Given the description of an element on the screen output the (x, y) to click on. 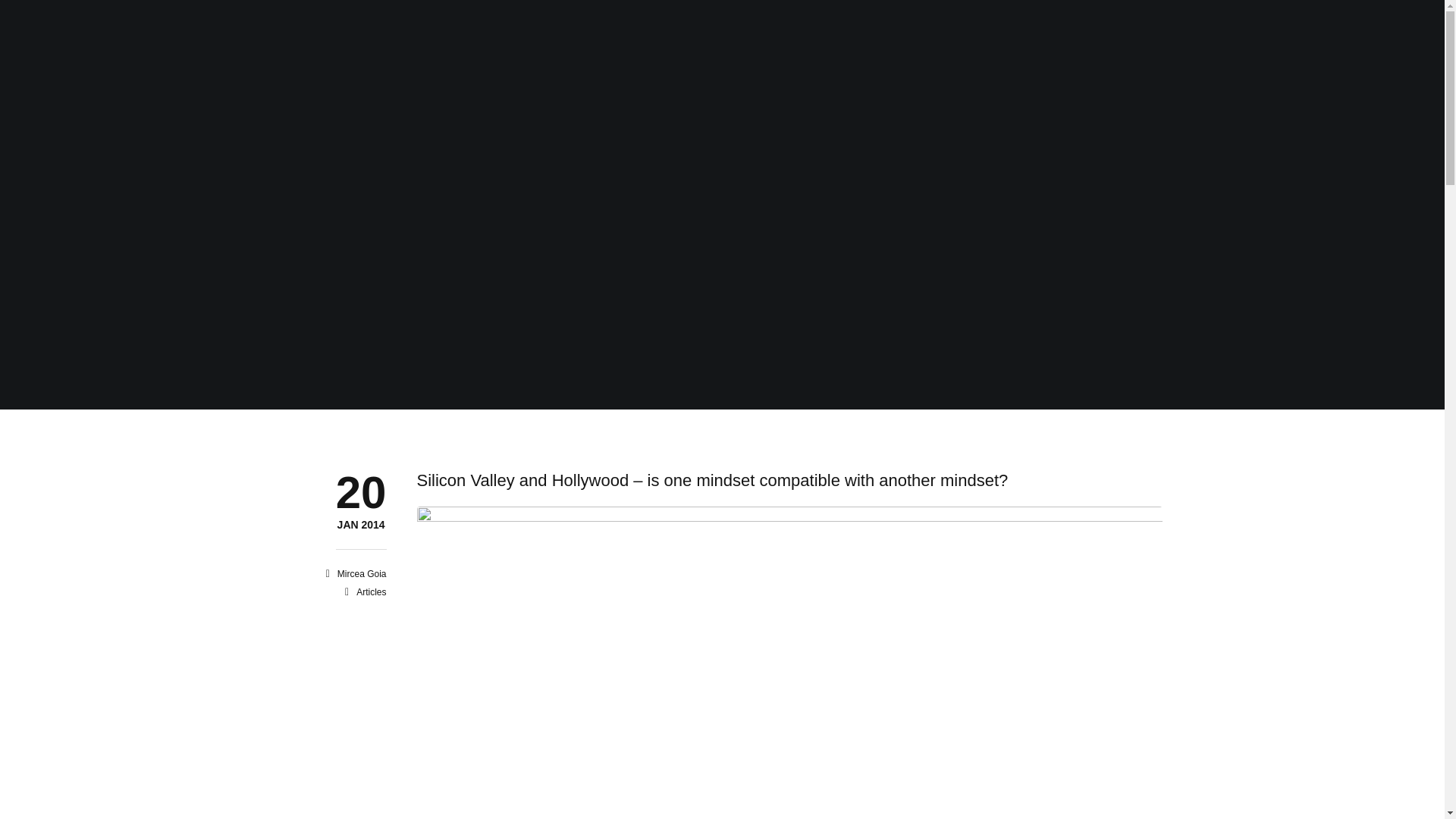
Posts by Mircea Goia (362, 573)
Articles (370, 592)
Mircea Goia (361, 525)
